Given the description of an element on the screen output the (x, y) to click on. 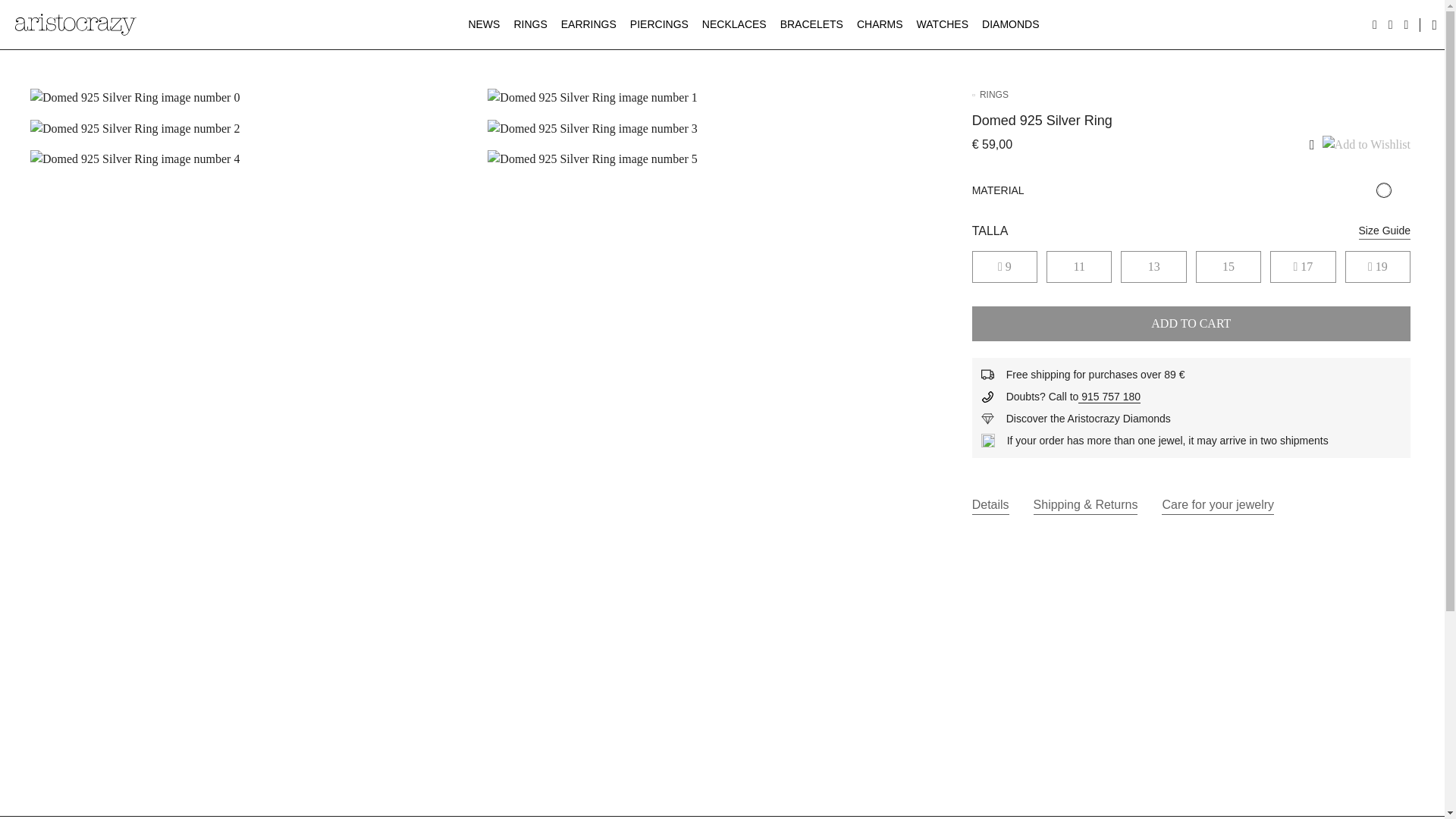
Aristocrazy Home (75, 24)
PIERCINGS (659, 24)
EARRINGS (589, 24)
NEWS (483, 24)
RINGS (530, 24)
